Given the description of an element on the screen output the (x, y) to click on. 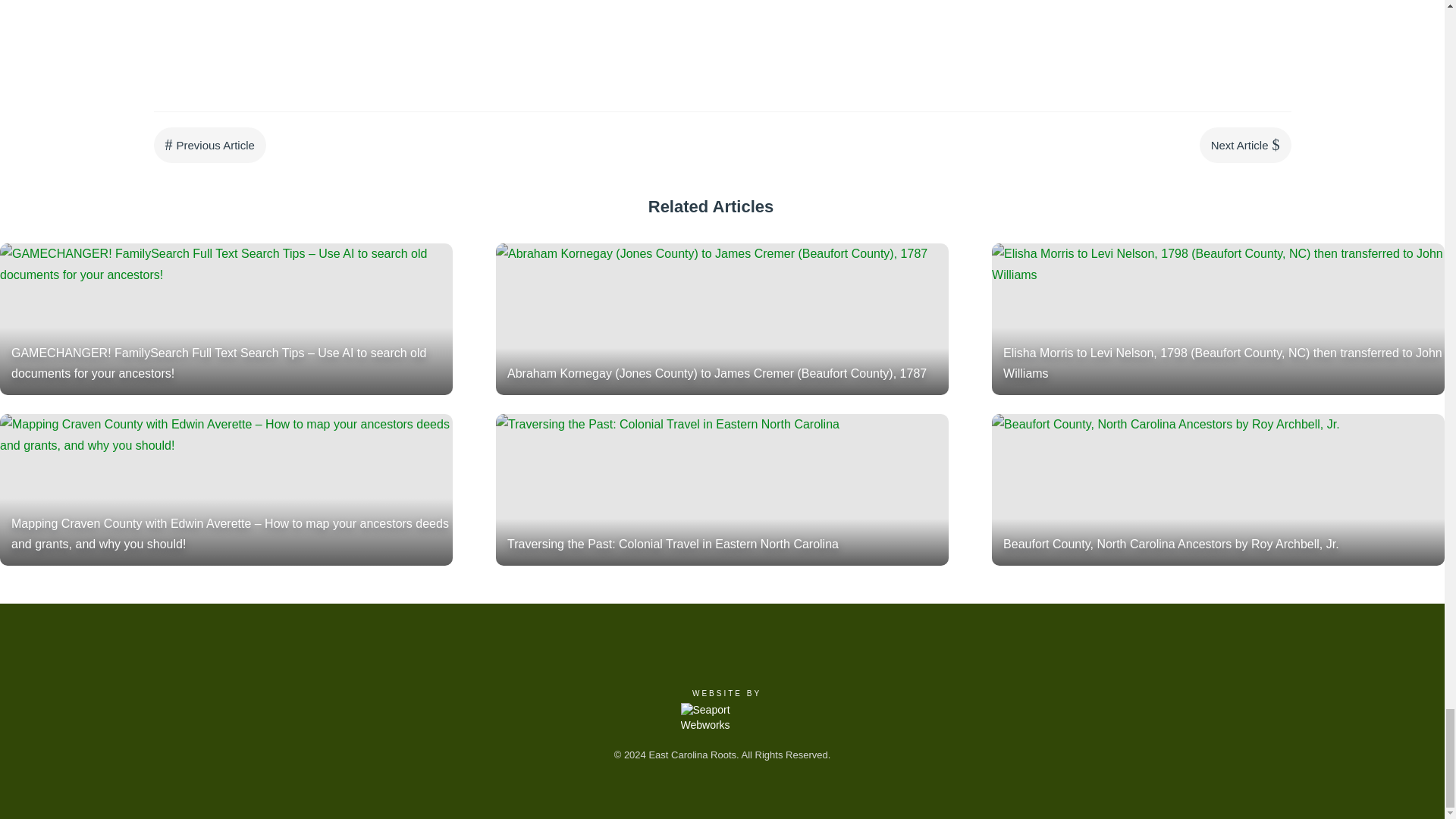
Seaport Webworks (722, 717)
